Given the description of an element on the screen output the (x, y) to click on. 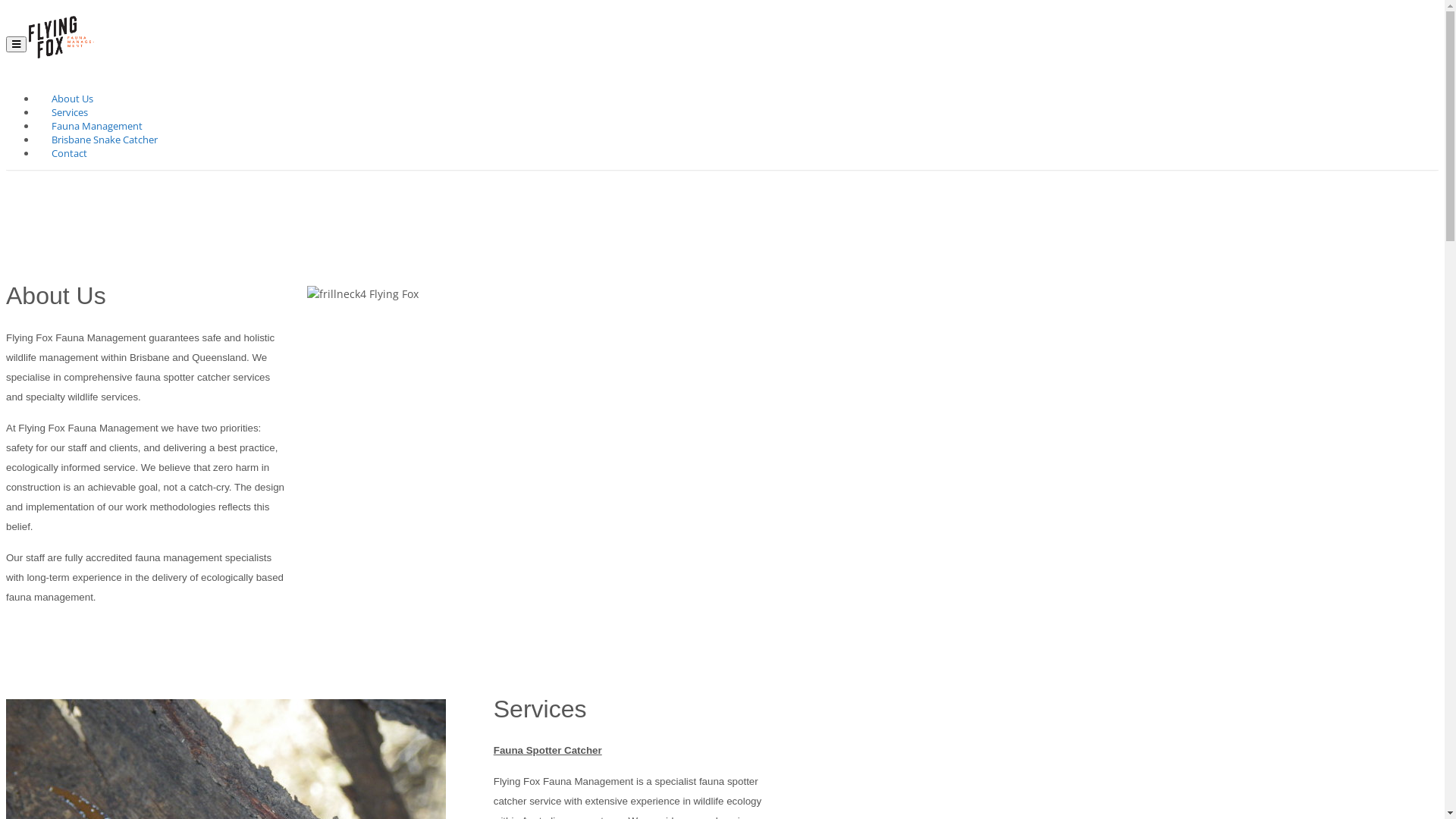
Services Element type: text (69, 112)
About Us Element type: text (72, 99)
Contact Element type: text (67, 153)
[Tags] Element type: hover (539, 471)
Fauna Management Element type: text (96, 126)
Brisbane Snake Catcher Element type: text (104, 140)
